Given the description of an element on the screen output the (x, y) to click on. 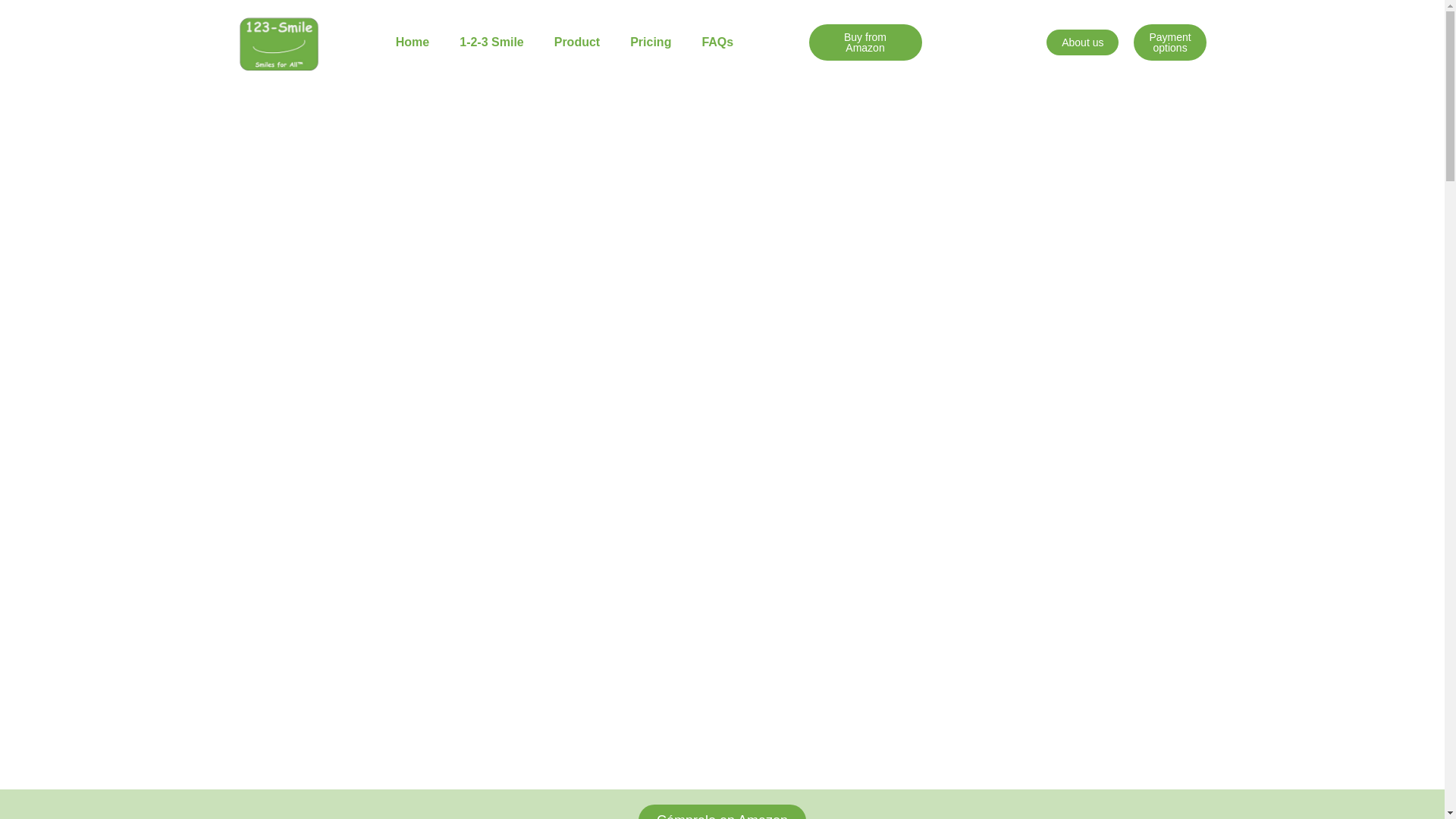
Product Element type: text (577, 42)
About us Element type: text (1082, 42)
1-2-3 Smile Element type: text (491, 42)
Pricing Element type: text (650, 42)
FAQs Element type: text (717, 42)
Home Element type: text (412, 42)
Buy from Amazon Element type: text (864, 42)
Payment options Element type: text (1169, 42)
